Given the description of an element on the screen output the (x, y) to click on. 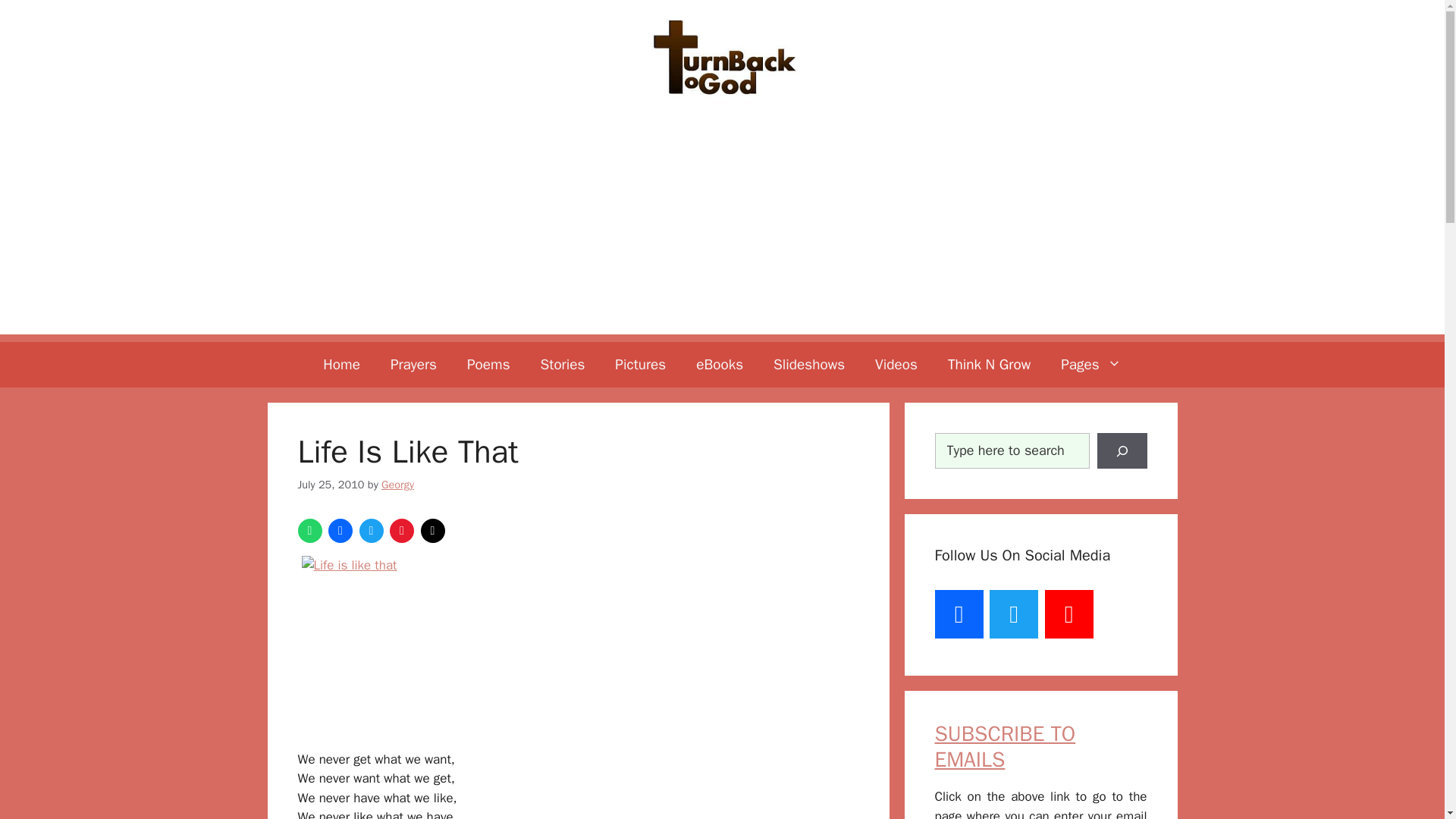
Share via Email (432, 530)
Stories (562, 364)
Save this as PDF (401, 530)
Poems (488, 364)
Slideshows (809, 364)
SUBSCRIBE TO EMAILS (1004, 746)
Share via WhatsApp (309, 530)
Turnback To God (721, 57)
Pages (1091, 364)
Share via Facebook (340, 530)
Prayers (413, 364)
Share via Twitter (371, 530)
Turnback To God (721, 56)
Pictures (640, 364)
